Given the description of an element on the screen output the (x, y) to click on. 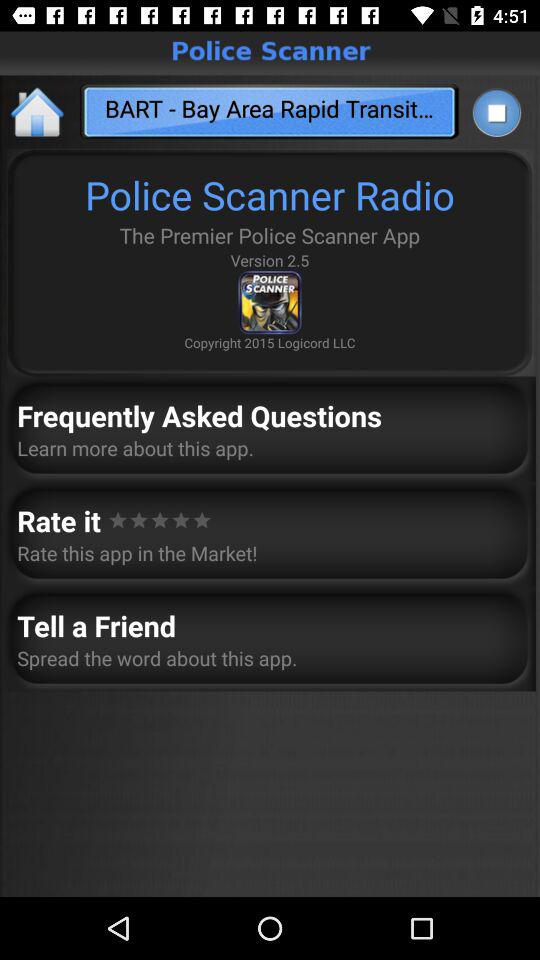
open the icon to the left of bart bay area (38, 111)
